Given the description of an element on the screen output the (x, y) to click on. 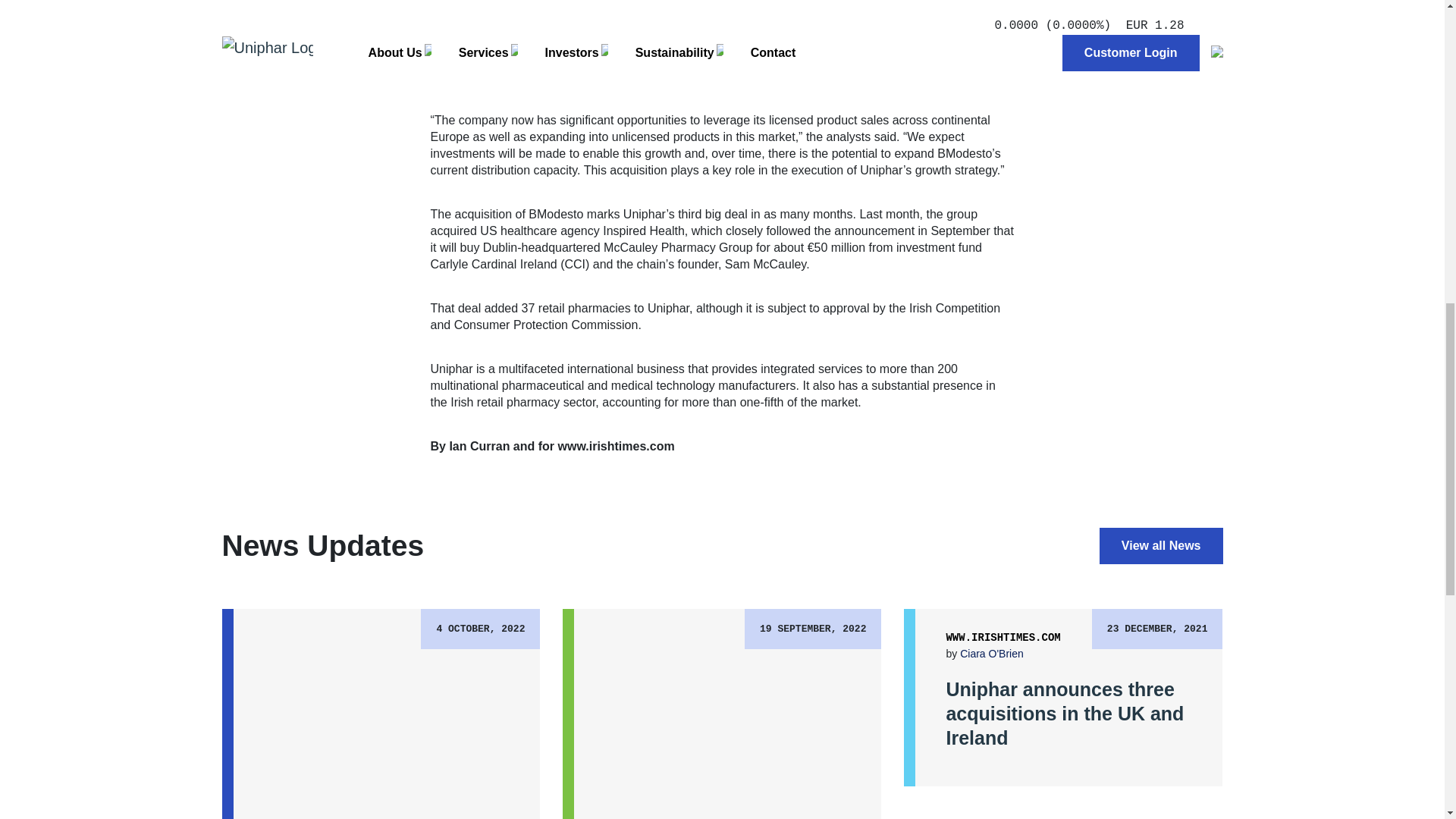
View all News (1161, 545)
